Given the description of an element on the screen output the (x, y) to click on. 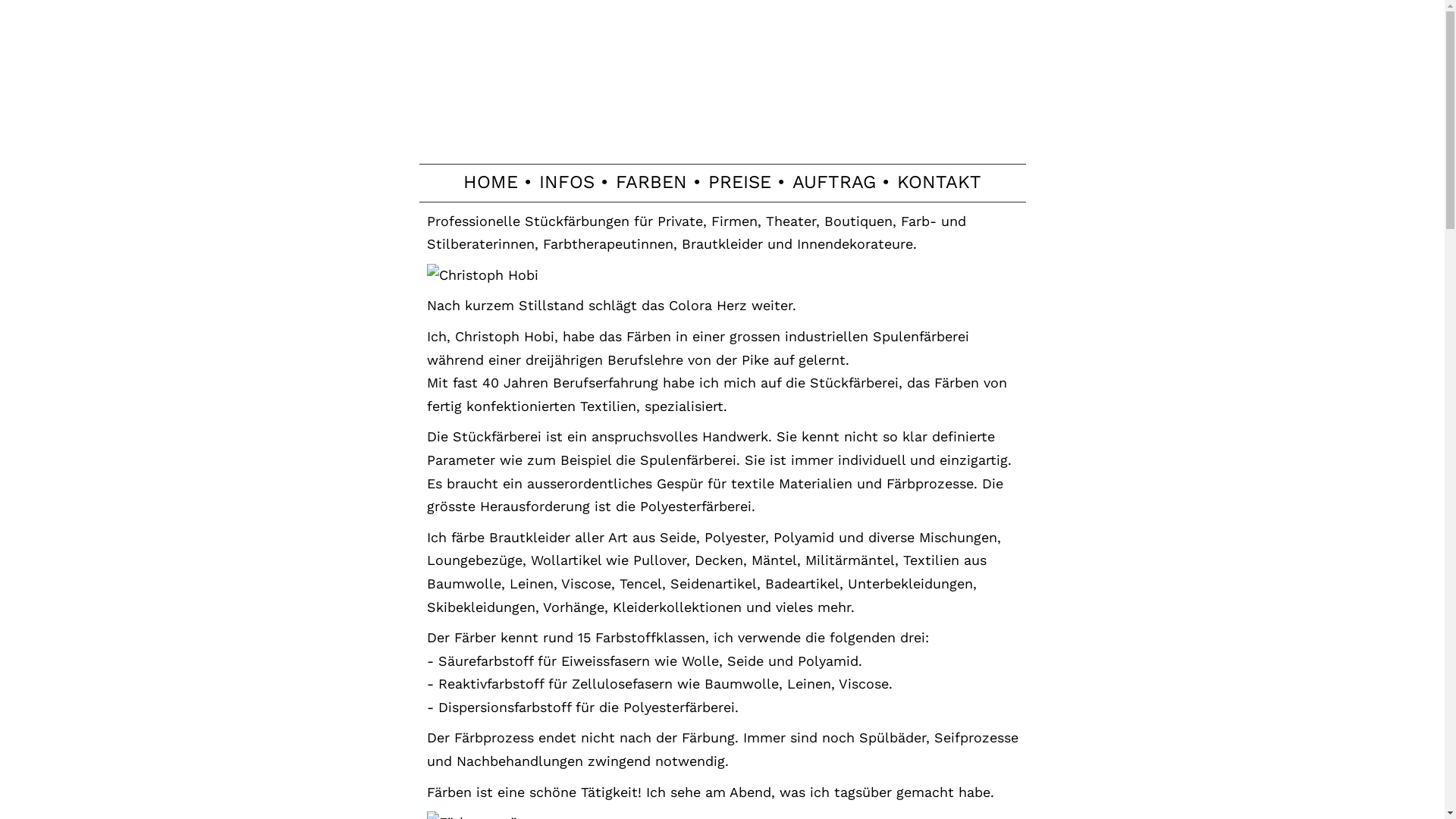
INFOS Element type: text (566, 181)
PREISE Element type: text (739, 181)
HOME Element type: text (490, 181)
KONTAKT Element type: text (939, 181)
AUFTRAG Element type: text (833, 181)
FARBEN Element type: text (651, 181)
